Given the description of an element on the screen output the (x, y) to click on. 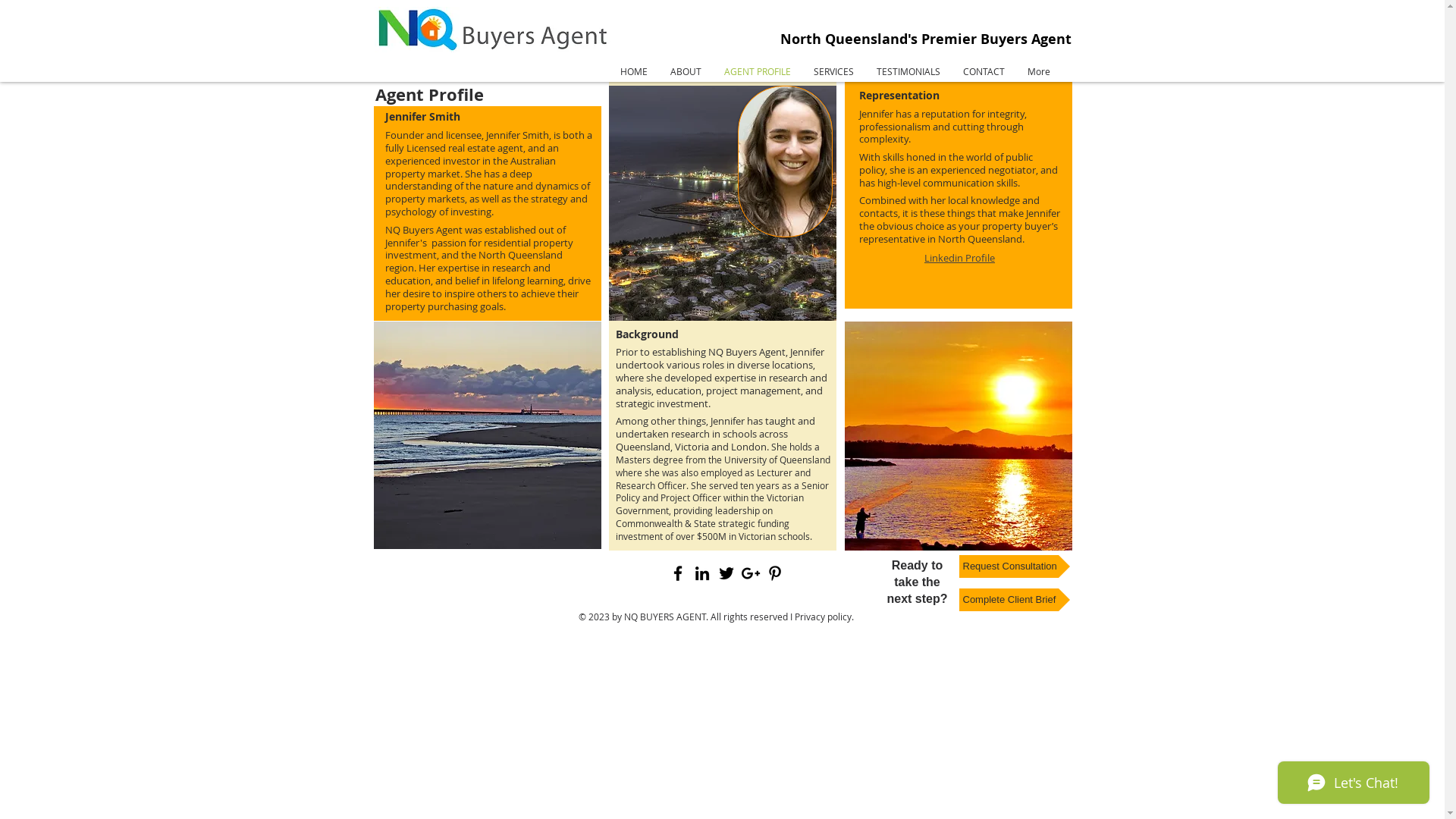
Privacy policy Element type: text (822, 616)
HOME Element type: text (633, 70)
Request Consultation Element type: text (1013, 566)
Complete Client Brief Element type: text (1013, 599)
Linkedin Profile Element type: text (959, 257)
ABOUT Element type: text (685, 70)
Townsville Sky To Heaven - Uwe Herbert Mertens_ Element type: hover (721, 202)
CONTACT Element type: text (982, 70)
Sunset - Cadence Moore Element type: hover (958, 435)
Lucinda Beach Sunrise - Wendy Allport Element type: hover (486, 435)
SERVICES Element type: text (833, 70)
AGENT PROFILE Element type: text (757, 70)
TESTIMONIALS Element type: text (907, 70)
